Given the description of an element on the screen output the (x, y) to click on. 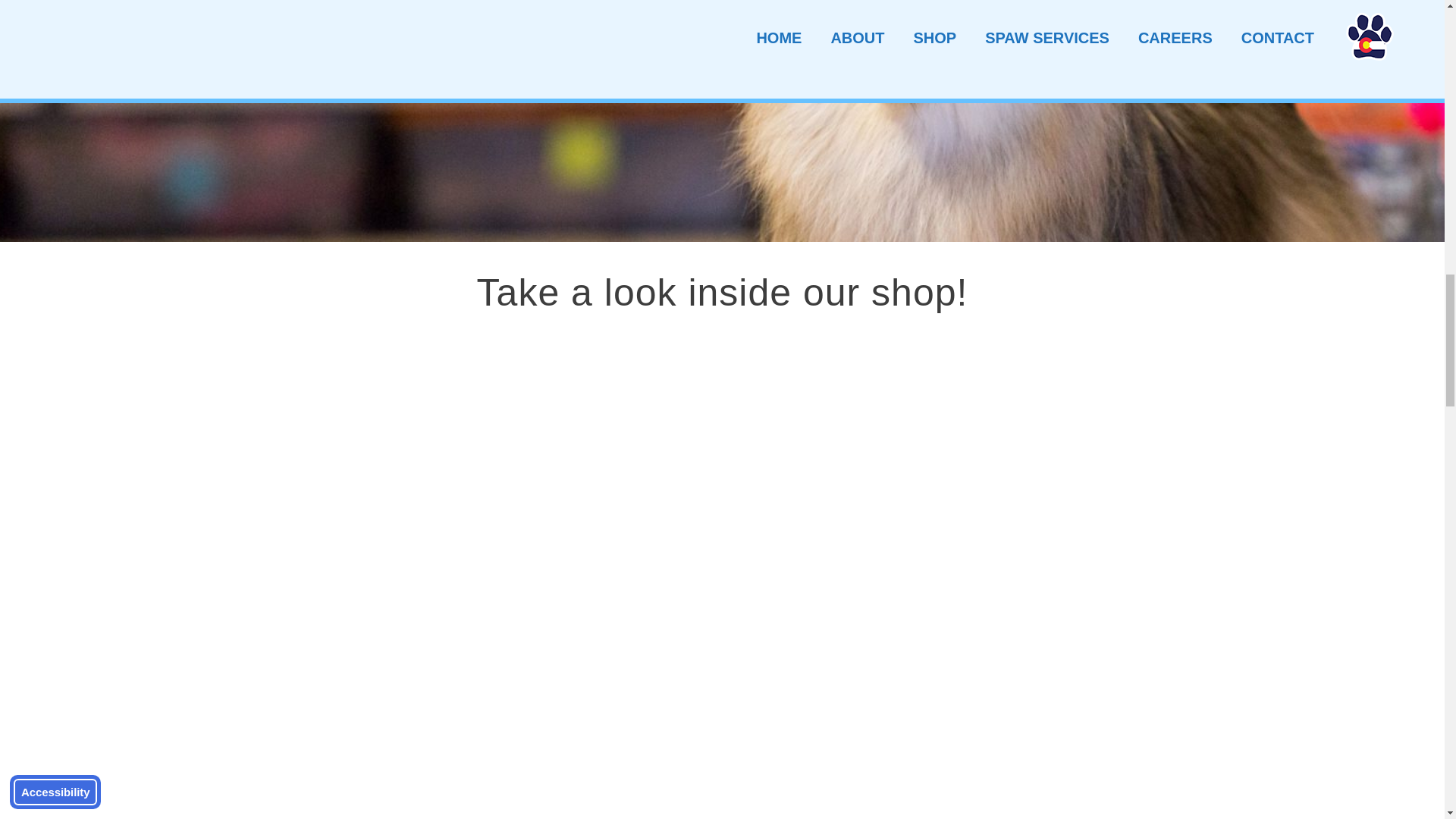
OUR STORY (507, 74)
